Given the description of an element on the screen output the (x, y) to click on. 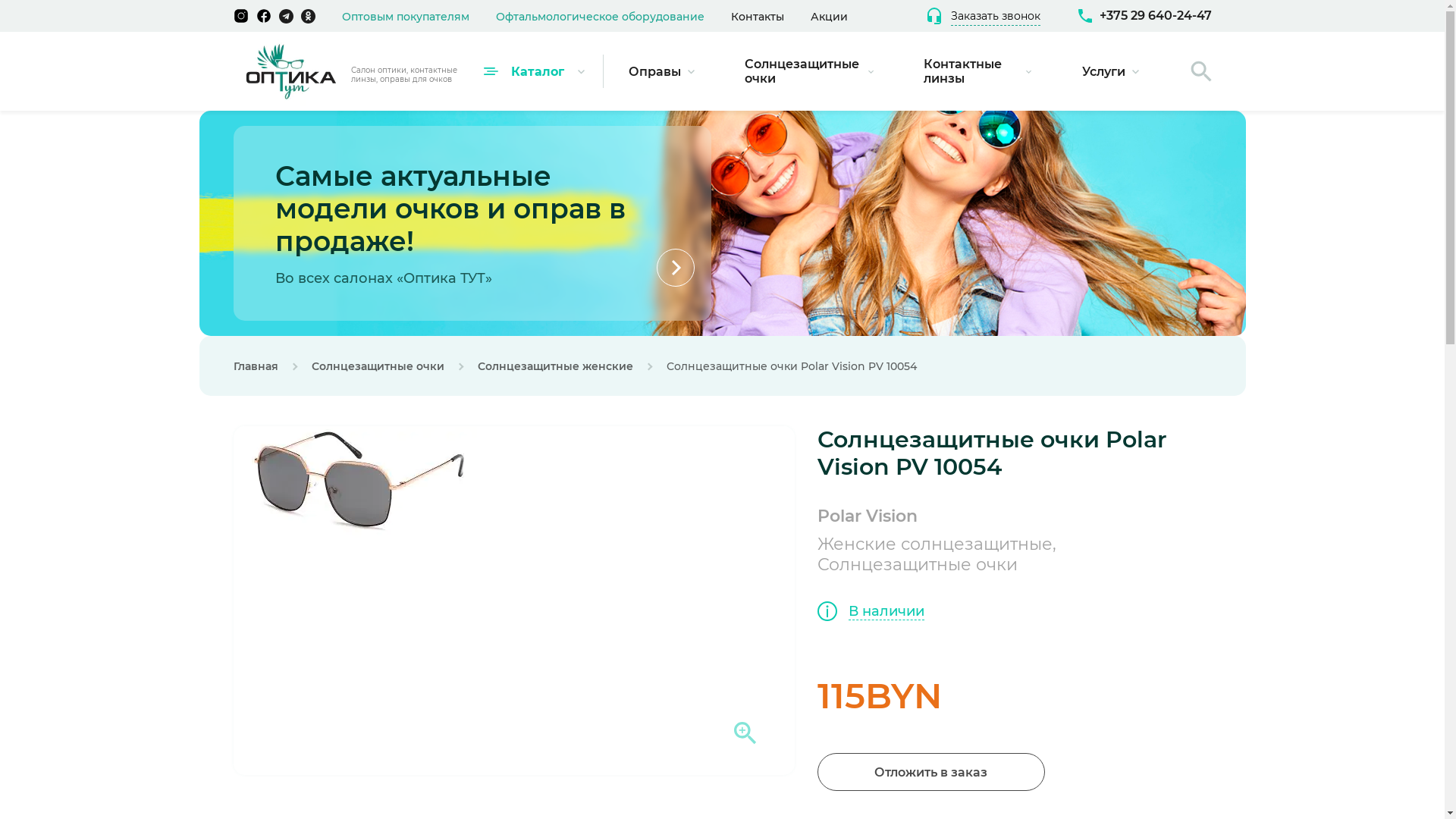
PV 10054 D Element type: hover (354, 485)
+375 29 640-24-47 Element type: text (1144, 15)
